Given the description of an element on the screen output the (x, y) to click on. 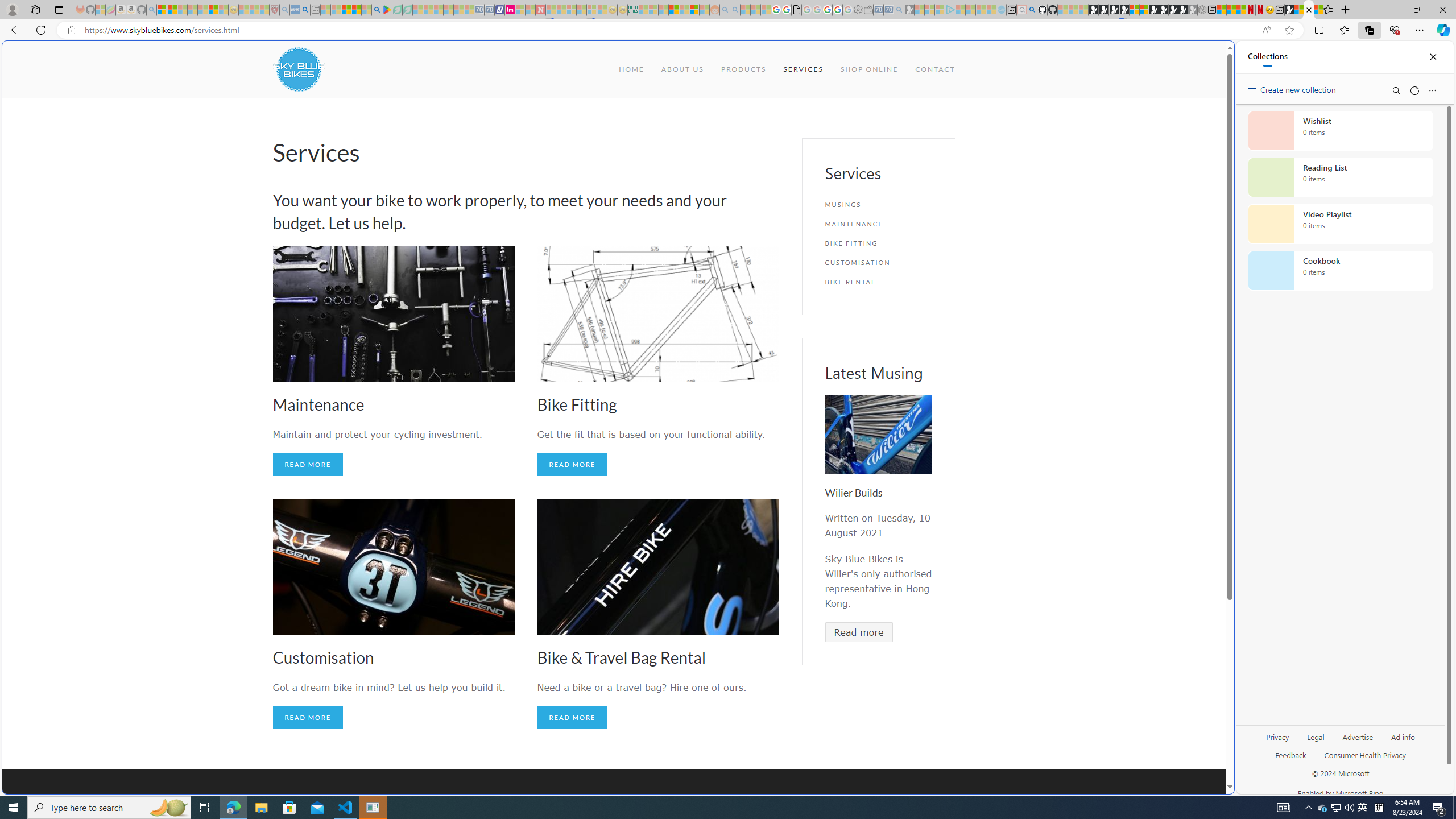
Close split screen (1208, 57)
Pets - MSN (356, 9)
